Given the description of an element on the screen output the (x, y) to click on. 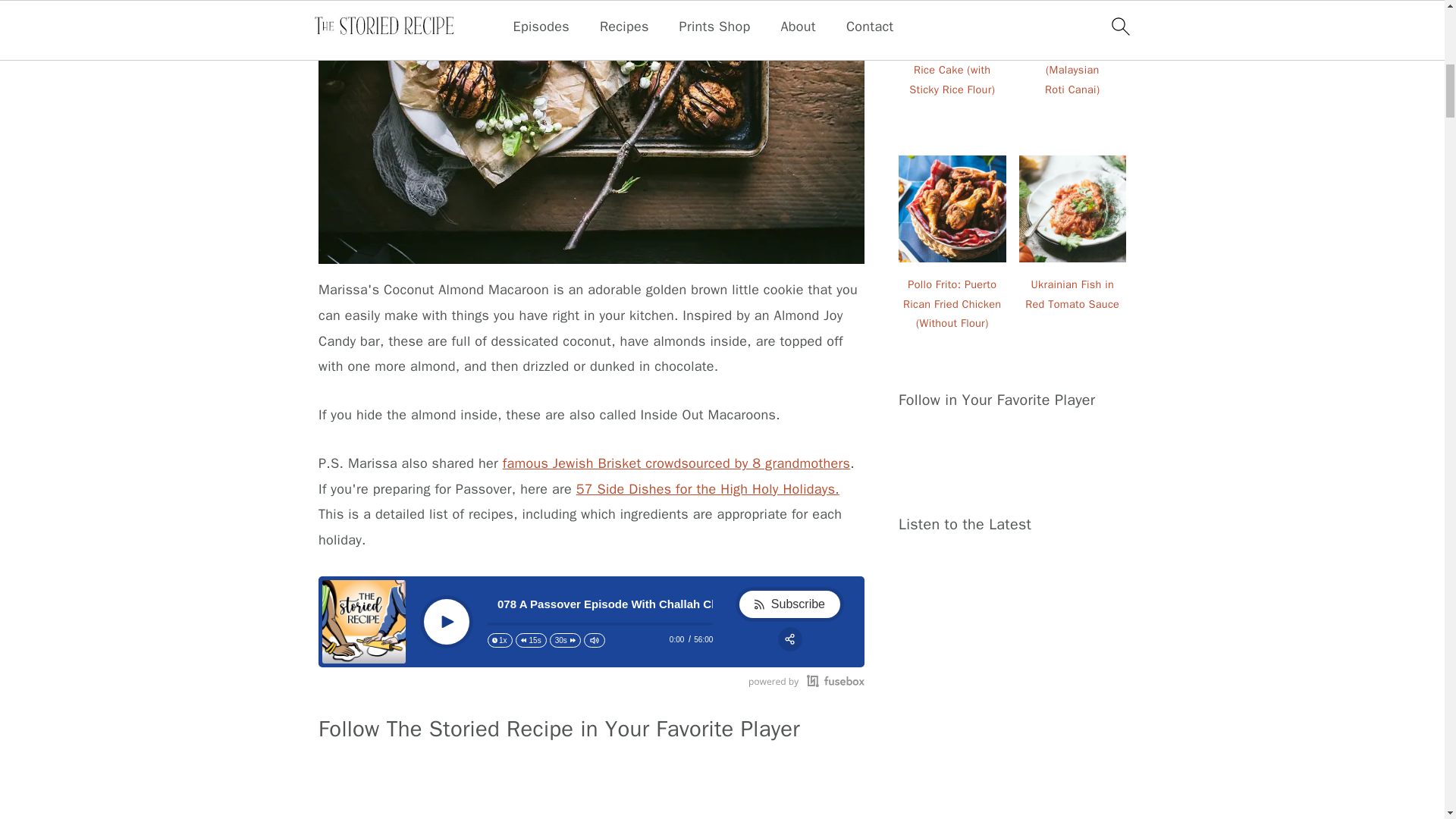
Spotify (388, 783)
Google-Podcasts (436, 783)
Subscribe (789, 604)
famous Jewish Brisket crowdsourced by 8 grandmothers (676, 463)
15s (531, 640)
Play (446, 621)
1x (499, 640)
30s (565, 640)
57 Side Dishes for the High Holy Holidays. (708, 488)
Apple-Podcasts (341, 783)
